Given the description of an element on the screen output the (x, y) to click on. 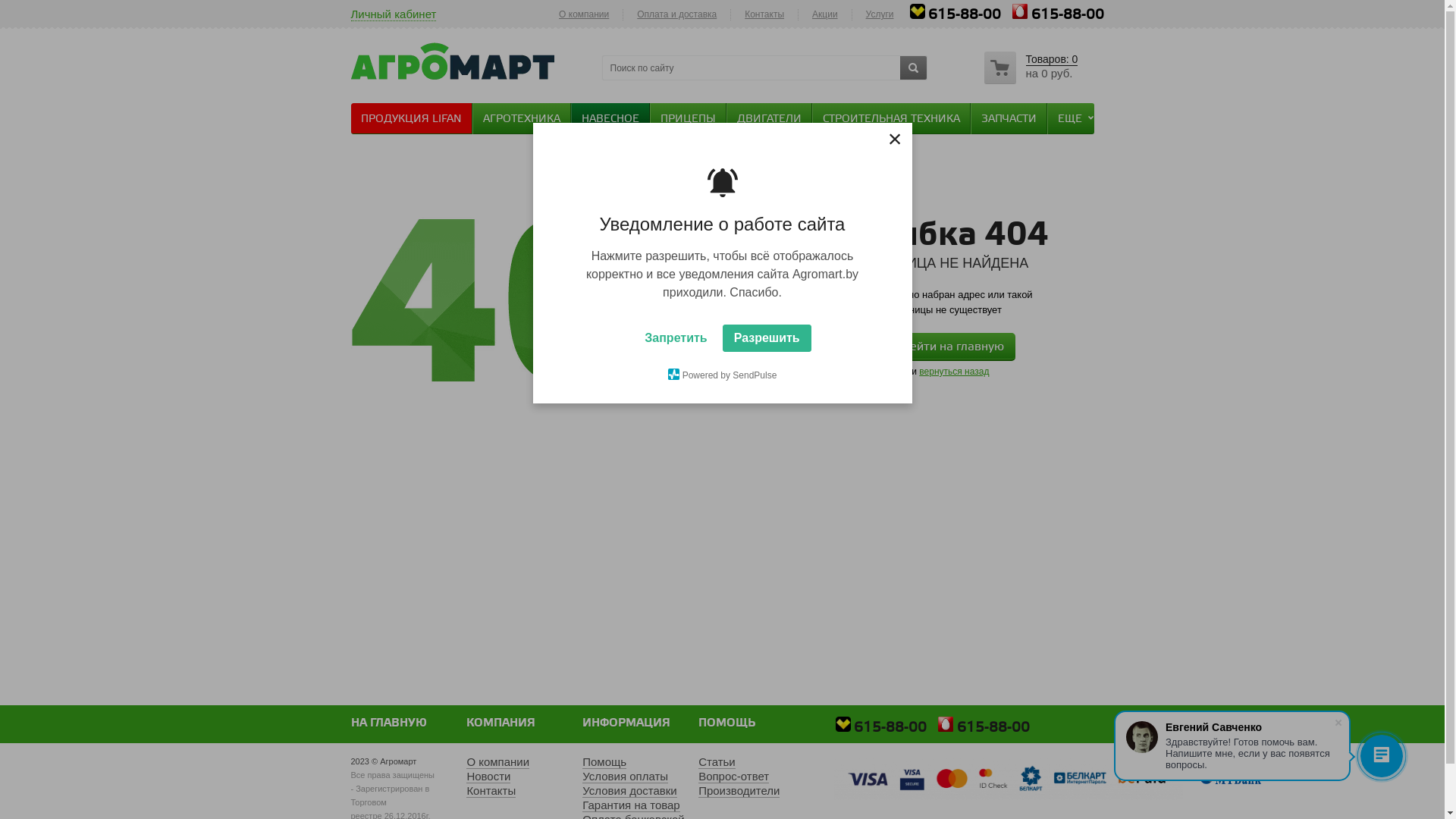
velcom.png Element type: hover (842, 723)
velcom.png Element type: hover (917, 10)
:-( Element type: hover (570, 300)
